Given the description of an element on the screen output the (x, y) to click on. 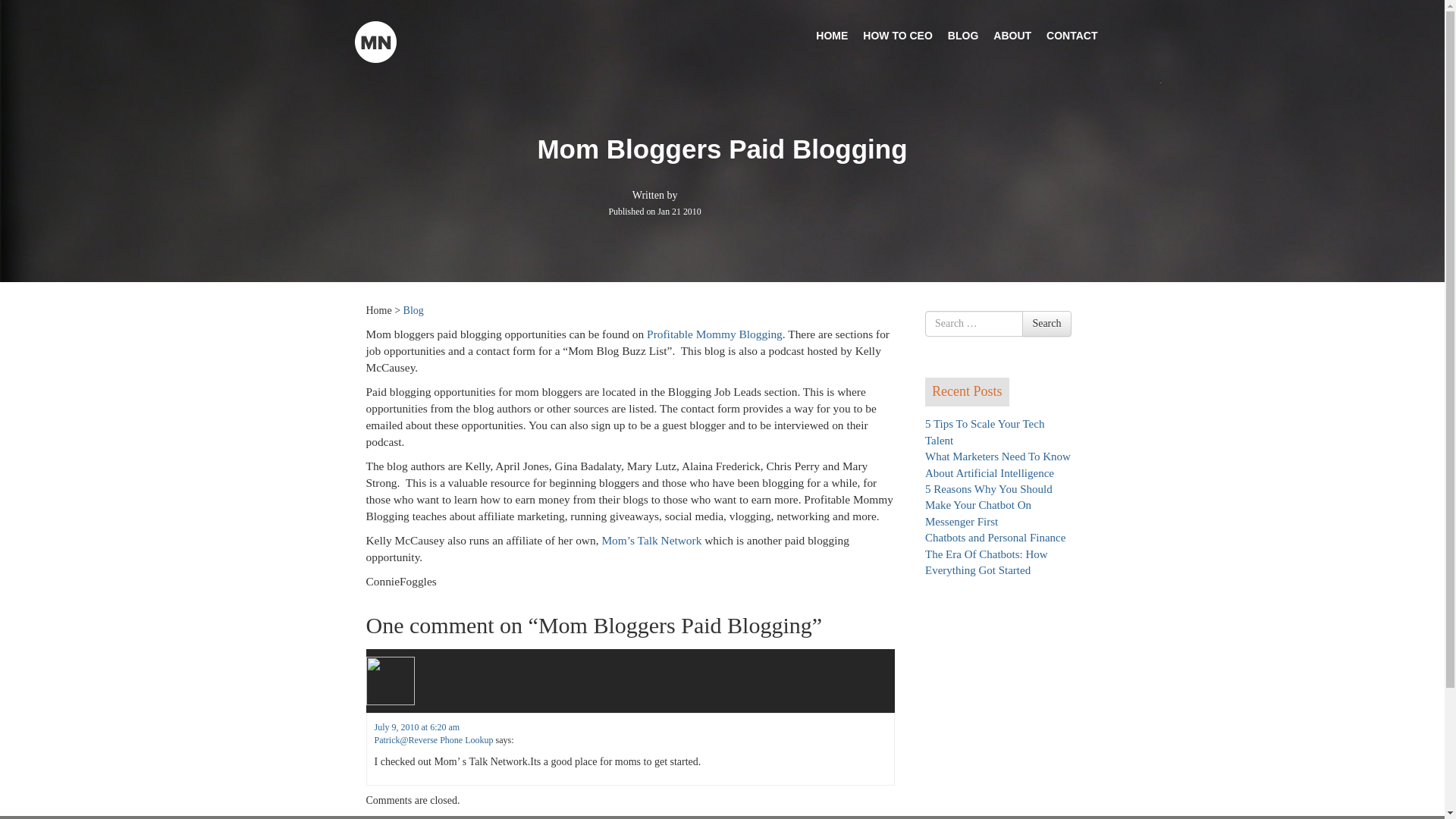
What Marketers Need To Know About Artificial Intelligence (997, 464)
Blog (413, 310)
HOME (831, 35)
Search for: (973, 323)
BLOG (962, 35)
The Era Of Chatbots: How Everything Got Started (986, 561)
Search (1046, 323)
5 Tips To Scale Your Tech Talent (983, 431)
HOW TO CEO (898, 35)
July 9, 2010 at 6:20 am (417, 726)
Chatbots and Personal Finance (994, 537)
CONTACT (1071, 35)
Profitable Mommy Blogging (714, 333)
ABOUT (1011, 35)
